Given the description of an element on the screen output the (x, y) to click on. 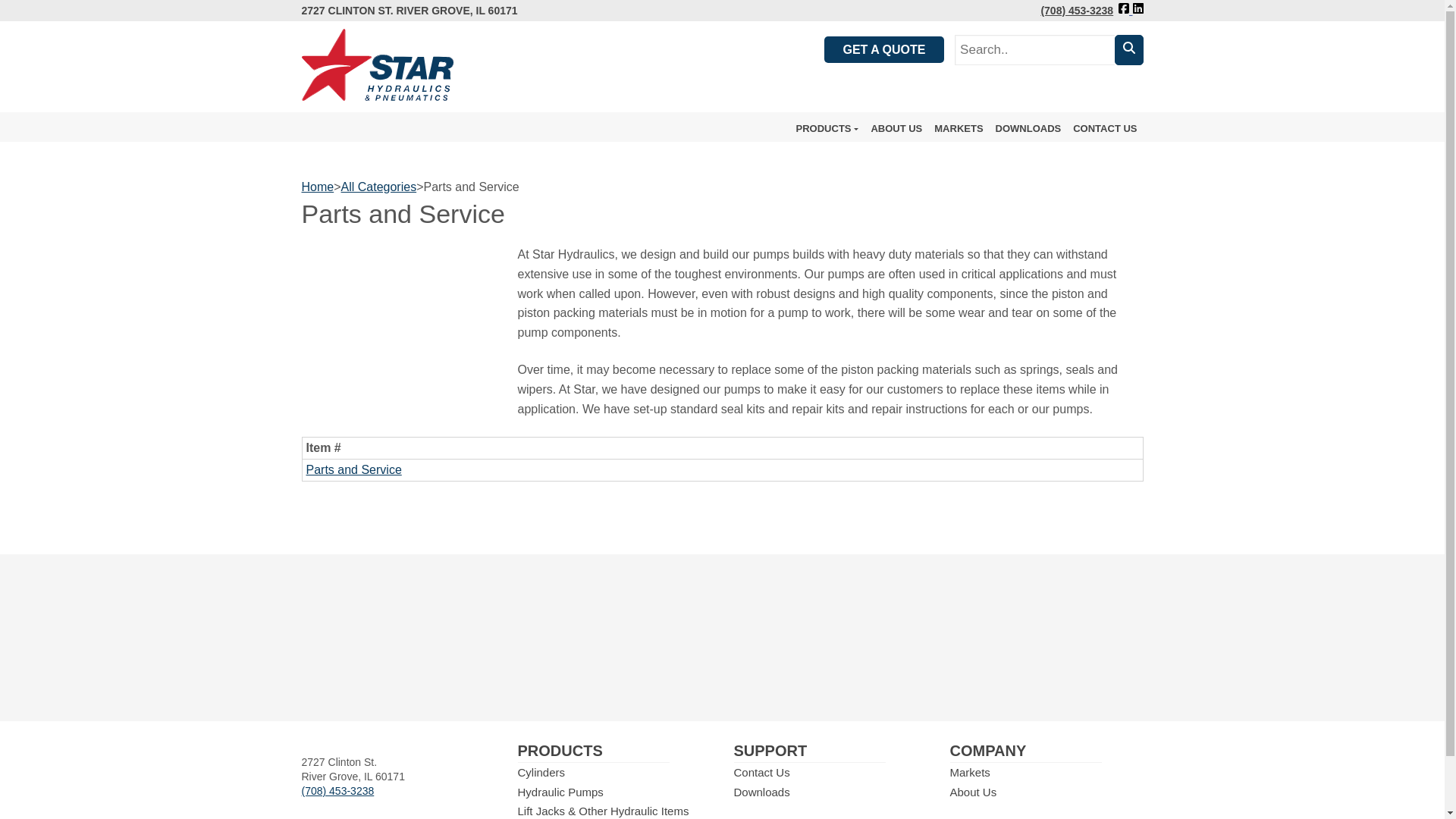
All Categories (378, 186)
click to call (337, 790)
MARKETS (958, 128)
About Us (972, 791)
DOWNLOADS (1028, 128)
Hydraulic Pumps (559, 791)
Downloads (761, 791)
Home (317, 186)
GET A QUOTE (883, 49)
PRODUCTS (827, 128)
